Given the description of an element on the screen output the (x, y) to click on. 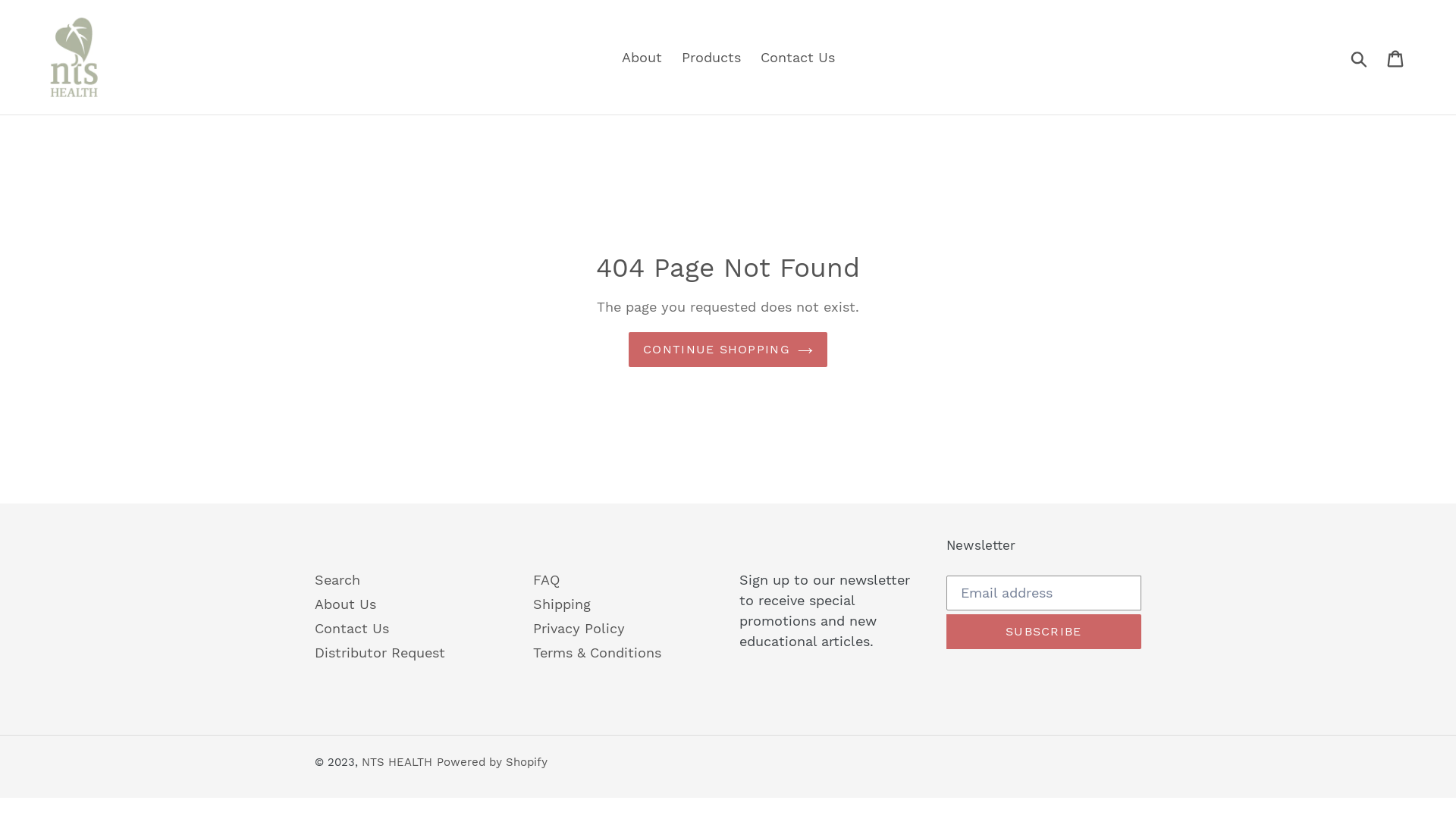
FAQ Element type: text (545, 580)
Search Element type: text (337, 580)
About Us Element type: text (345, 604)
Terms & Conditions Element type: text (596, 653)
Shipping Element type: text (560, 604)
Submit Element type: text (1359, 57)
Contact Us Element type: text (796, 56)
Cart Element type: text (1396, 57)
Distributor Request Element type: text (379, 653)
Products Element type: text (710, 56)
NTS HEALTH Element type: text (396, 762)
About Element type: text (641, 56)
Contact Us Element type: text (351, 629)
CONTINUE SHOPPING Element type: text (727, 349)
SUBSCRIBE Element type: text (1044, 632)
Privacy Policy Element type: text (578, 629)
Powered by Shopify Element type: text (491, 762)
